Given the description of an element on the screen output the (x, y) to click on. 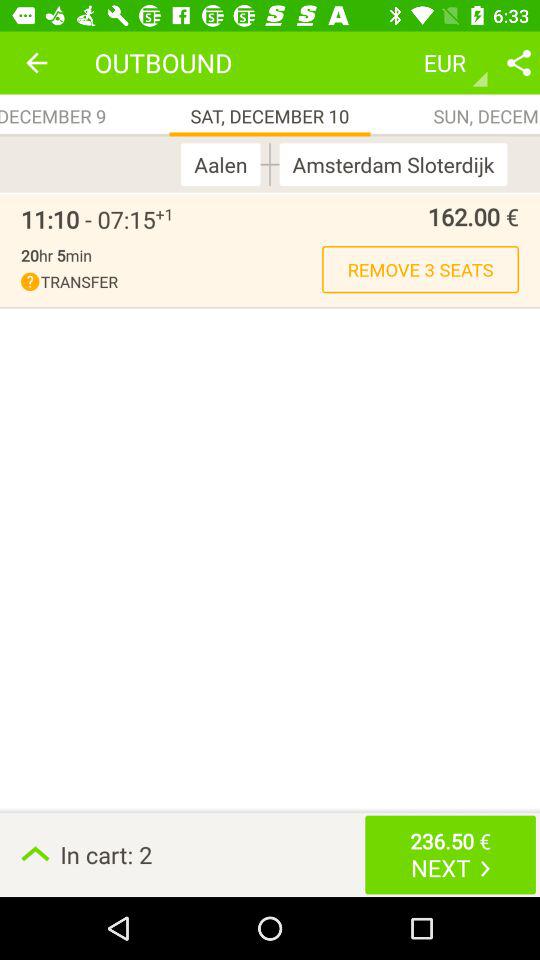
tap icon above fri, december 9 (36, 62)
